Given the description of an element on the screen output the (x, y) to click on. 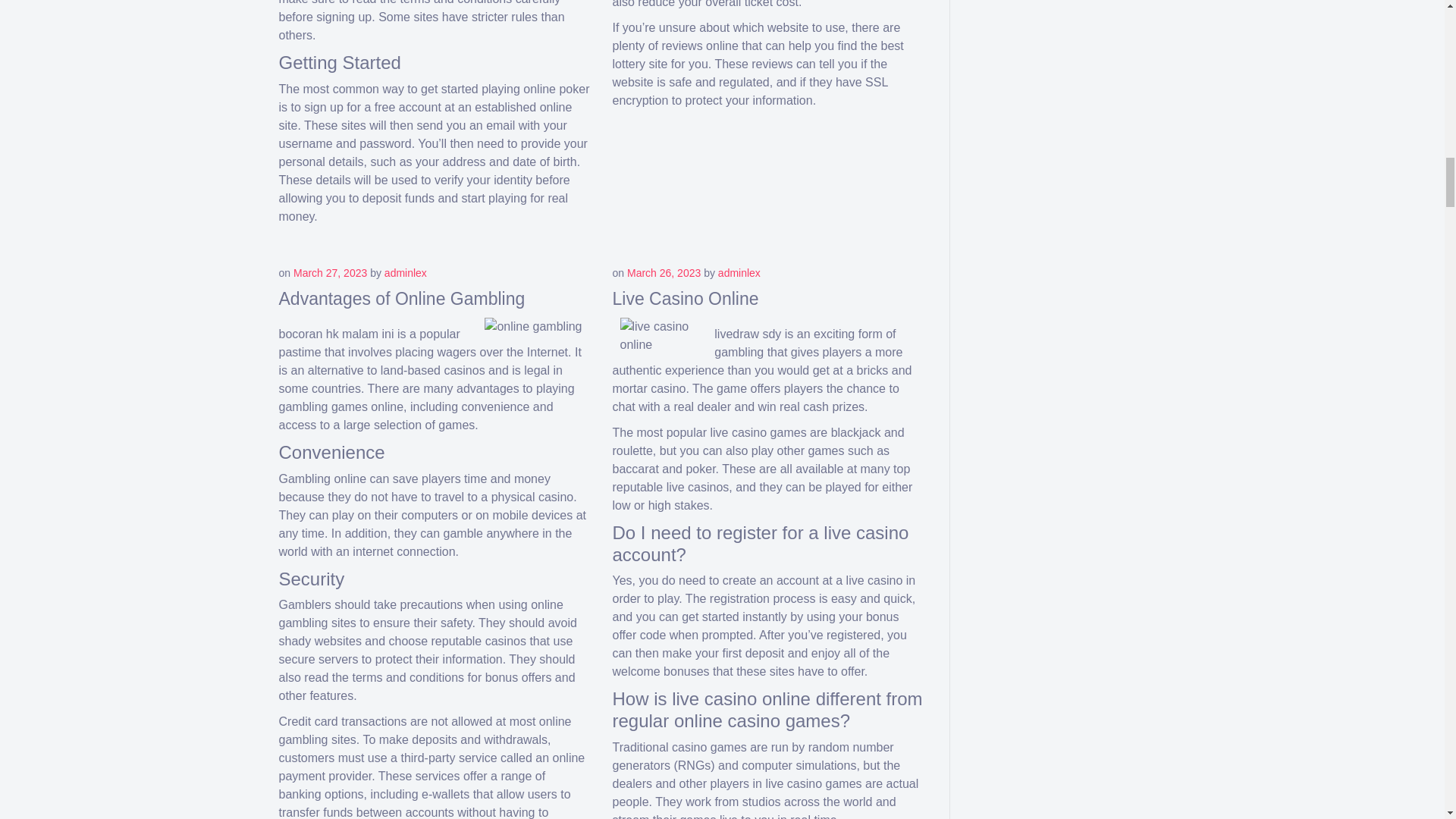
adminlex (405, 272)
Live Casino Online (685, 298)
livedraw sdy (747, 333)
adminlex (738, 272)
bocoran hk malam ini (336, 333)
March 26, 2023 (663, 272)
Advantages of Online Gambling (402, 298)
March 27, 2023 (330, 272)
